Given the description of an element on the screen output the (x, y) to click on. 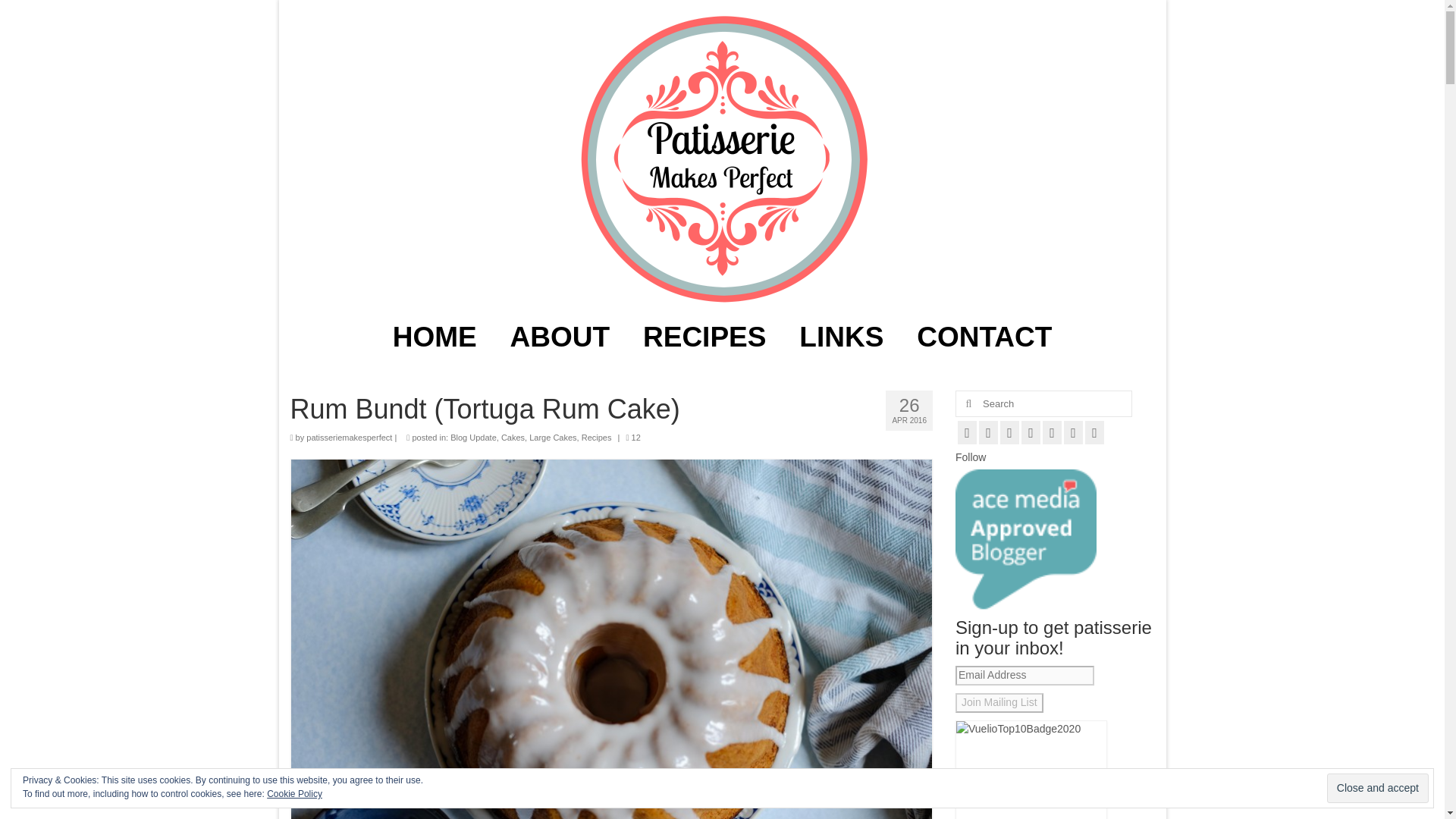
HOME (434, 337)
Cakes (512, 437)
Join Mailing List (999, 702)
LINKS (841, 337)
ABOUT (560, 337)
ABOUT (560, 337)
RECIPES (703, 337)
Blog Update (472, 437)
CONTACT (984, 337)
RECIPES (703, 337)
